Given the description of an element on the screen output the (x, y) to click on. 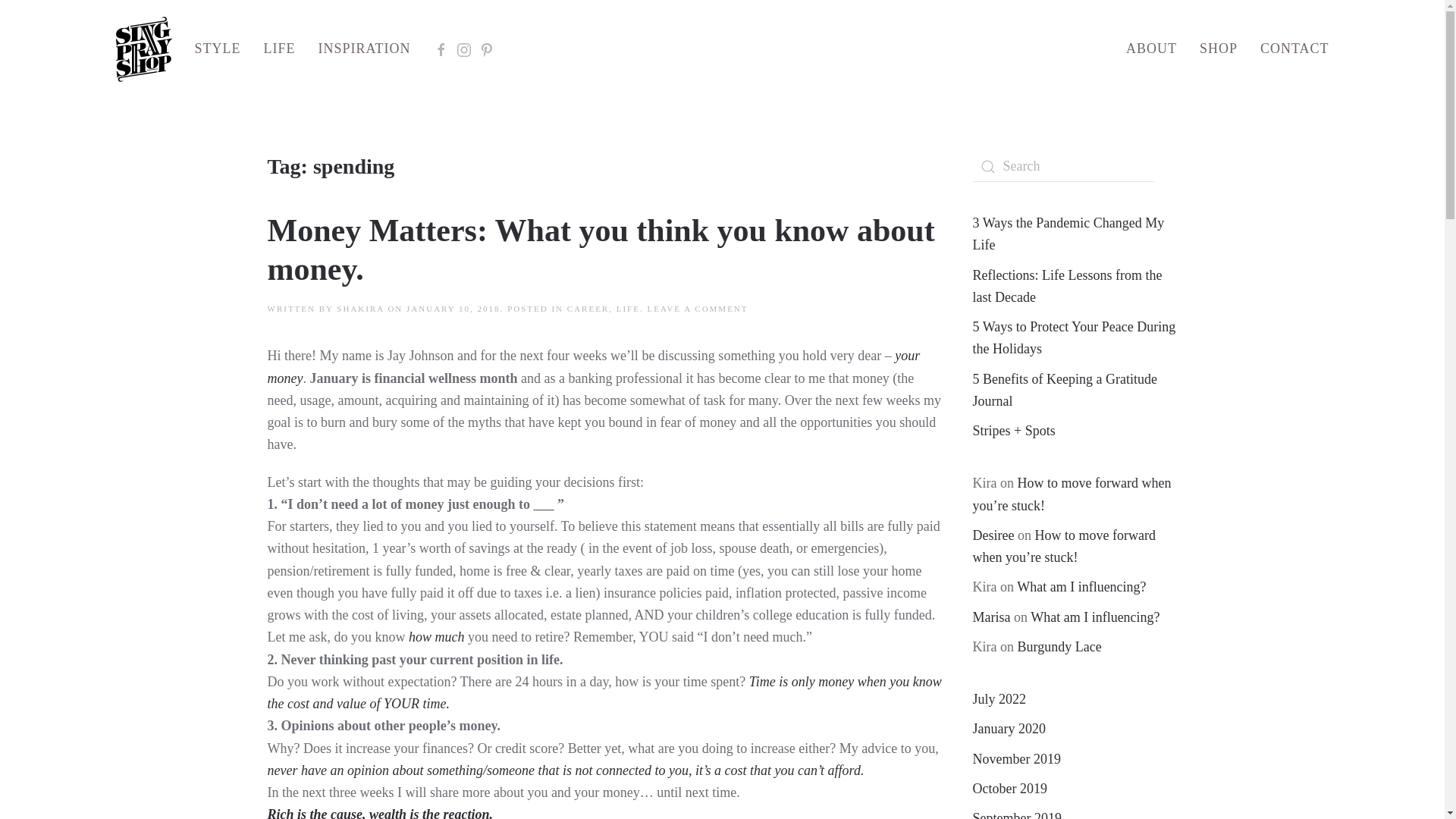
What am I influencing? (1094, 616)
LEAVE A COMMENT (697, 307)
INSPIRATION (363, 49)
Marisa (991, 616)
CAREER (587, 307)
5 Benefits of Keeping a Gratitude Journal (1064, 389)
October 2019 (1009, 788)
What am I influencing? (1080, 586)
SHAKIRA (360, 307)
5 Ways to Protect Your Peace During the Holidays (1073, 337)
